Given the description of an element on the screen output the (x, y) to click on. 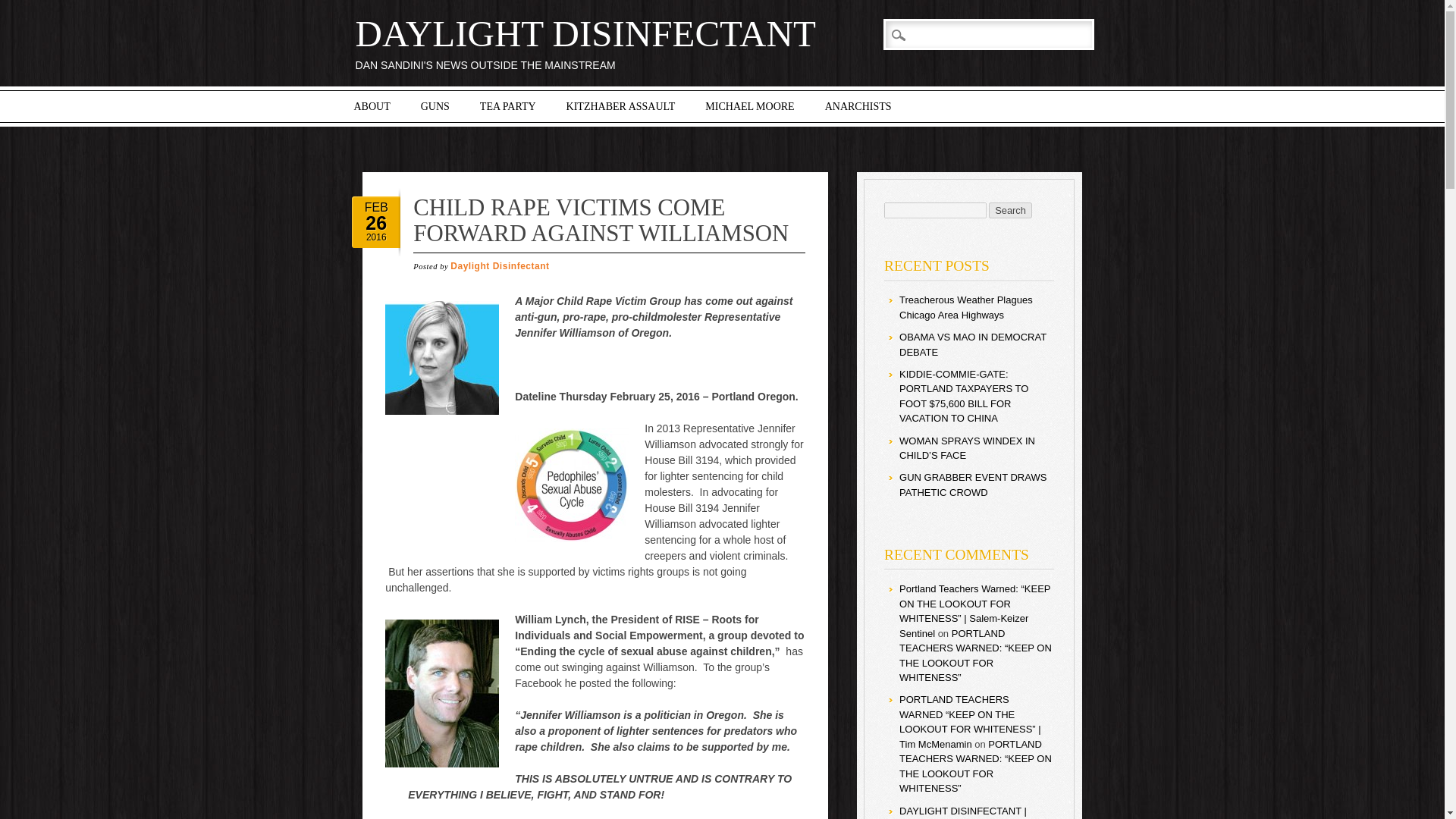
MICHAEL MOORE (749, 106)
26 (376, 222)
View all posts by Daylight Disinfectant (498, 266)
GUNS (435, 106)
DAYLIGHT DISINFECTANT (585, 33)
DAYLIGHT DISINFECTANT (585, 33)
Daylight Disinfectant (498, 266)
TEA PARTY (507, 106)
Search (1010, 210)
ANARCHISTS (858, 106)
ABOUT (370, 106)
ANARCHISTS (858, 106)
FEB (376, 206)
KITZHABER ASSAULT (620, 106)
Search (22, 8)
